Given the description of an element on the screen output the (x, y) to click on. 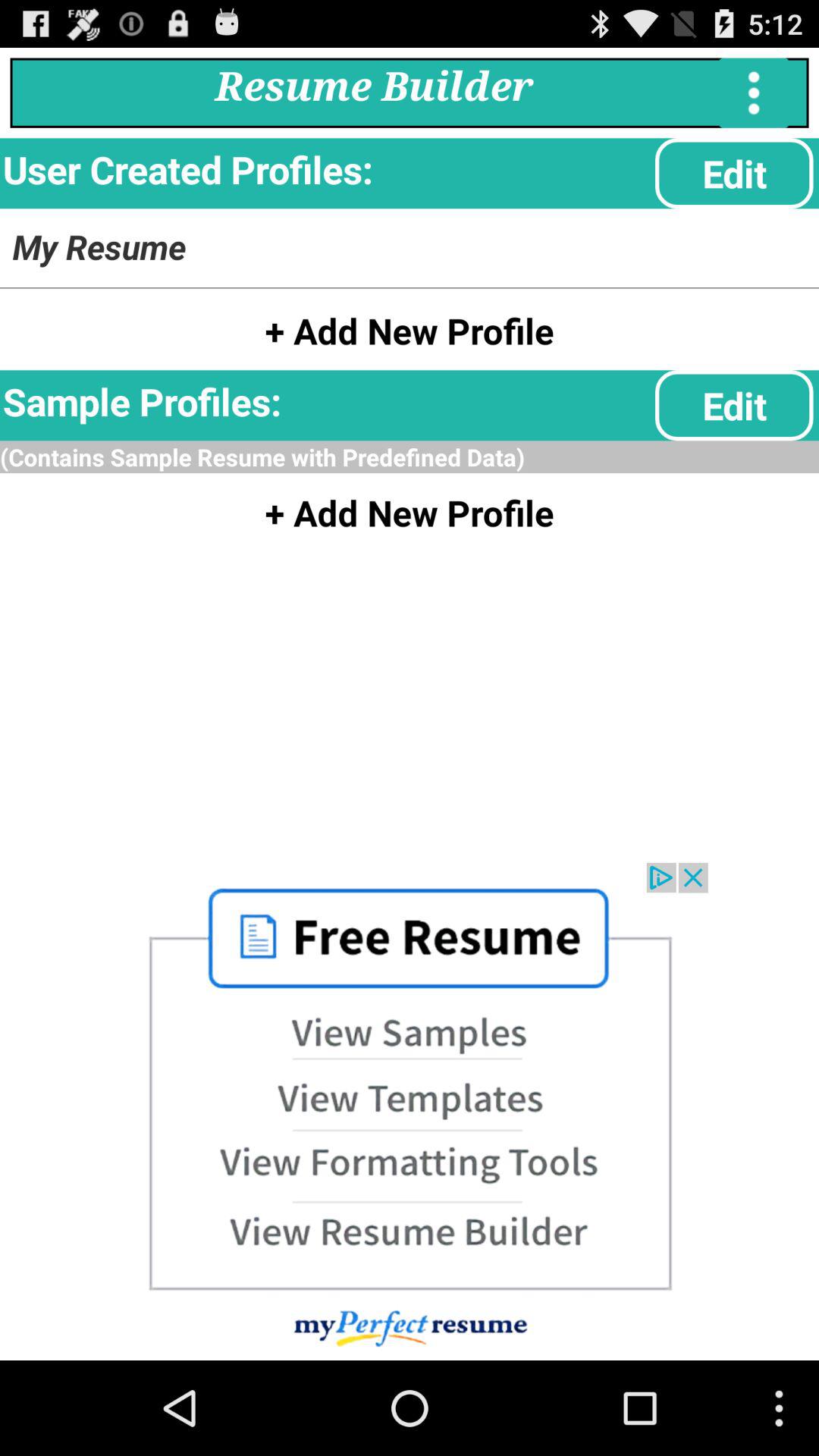
connect to link (409, 1111)
